Given the description of an element on the screen output the (x, y) to click on. 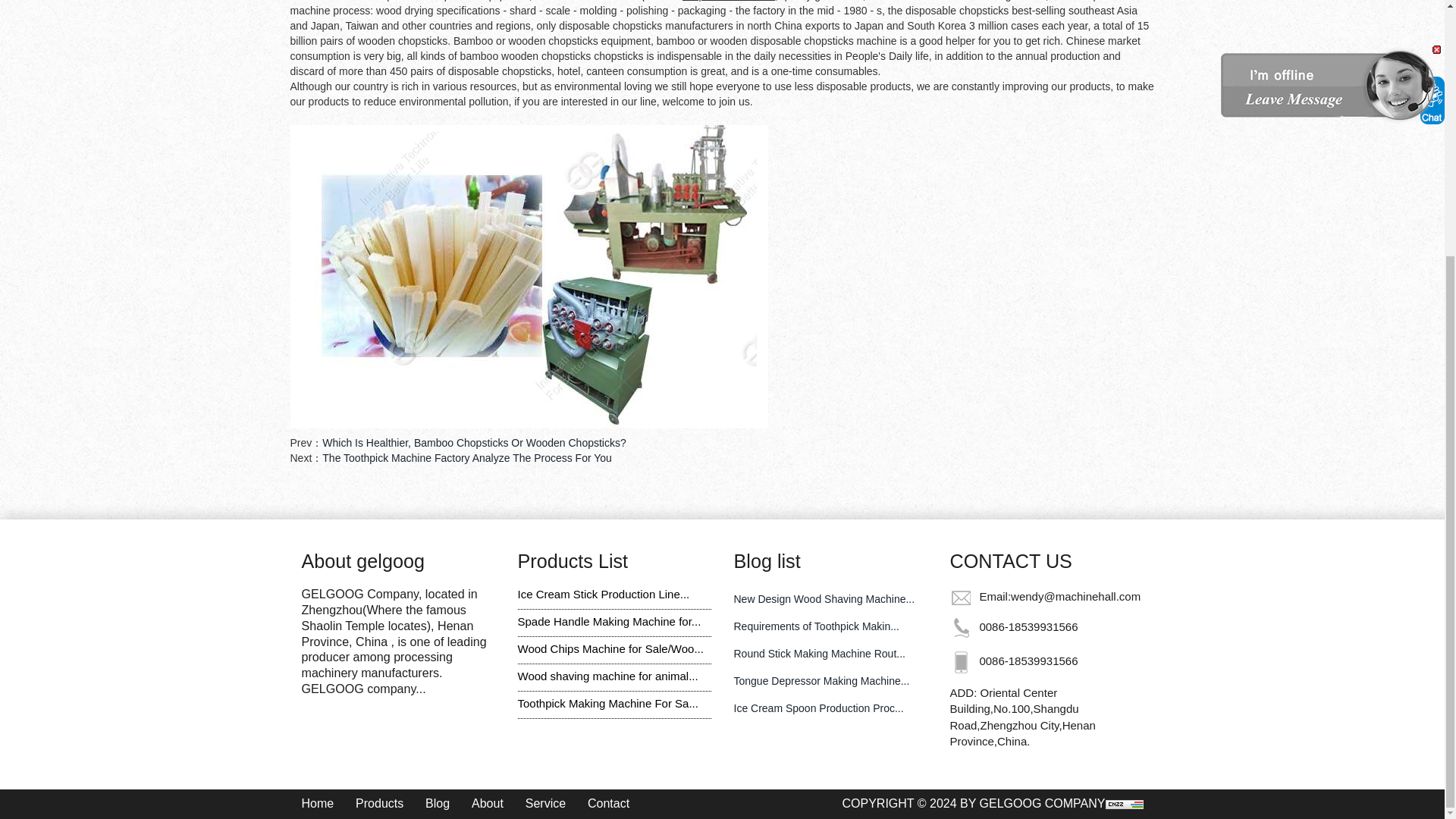
Toothpick Making Machine For Sa... (606, 703)
Which Is Healthier, Bamboo Chopsticks Or Wooden Chopsticks? (473, 442)
Requirements of Toothpick Makin (816, 625)
Spade Handle Making Machine for... (608, 621)
0086-18539931566 (1027, 660)
Products (379, 802)
New Design Wood Shaving Machine (824, 598)
Round Stick Making Machine Rout... (819, 653)
Round Stick Making Machine Rout (819, 653)
Toothpick Making Machine For Sa (606, 703)
